Given the description of an element on the screen output the (x, y) to click on. 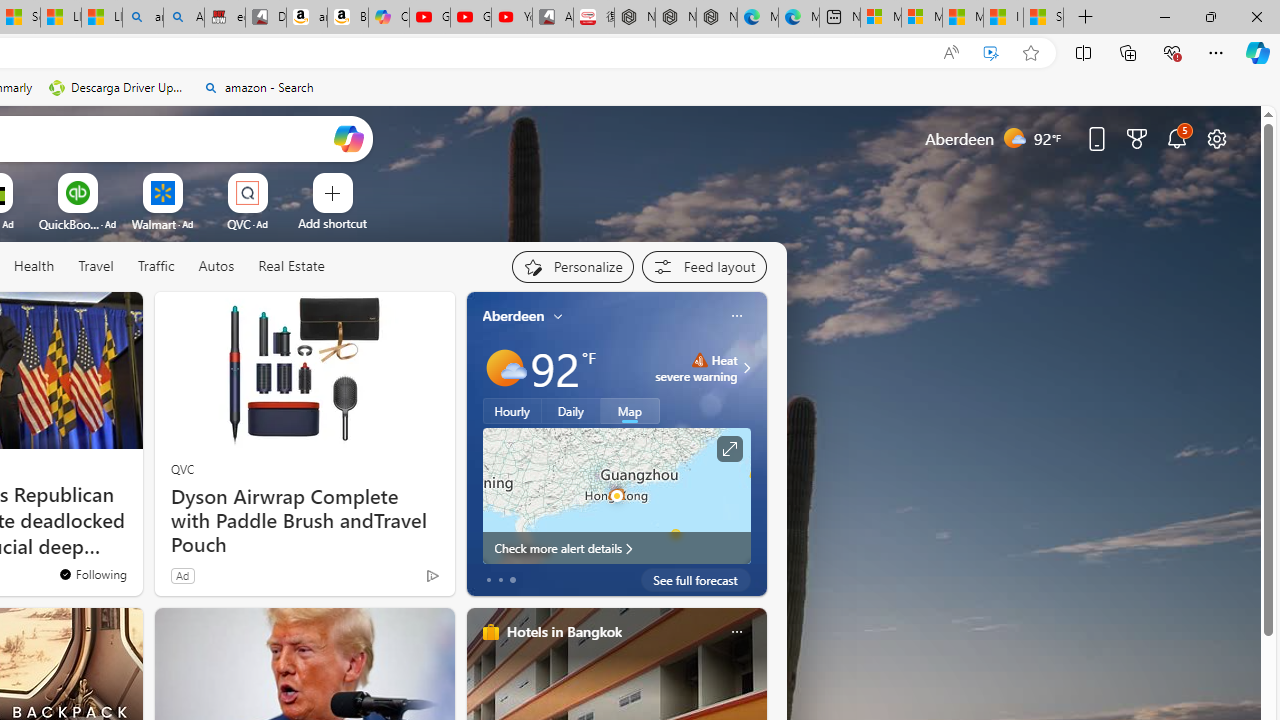
Real Estate (290, 267)
Mostly sunny (504, 368)
Daily (571, 411)
Copilot (388, 17)
Gloom - YouTube (470, 17)
My location (558, 315)
See full forecast (695, 579)
Amazon Echo Dot PNG - Search Images (183, 17)
Microsoft account | Privacy (922, 17)
Descarga Driver Updater (118, 88)
Heat - Severe (699, 359)
Traffic (155, 267)
